Given the description of an element on the screen output the (x, y) to click on. 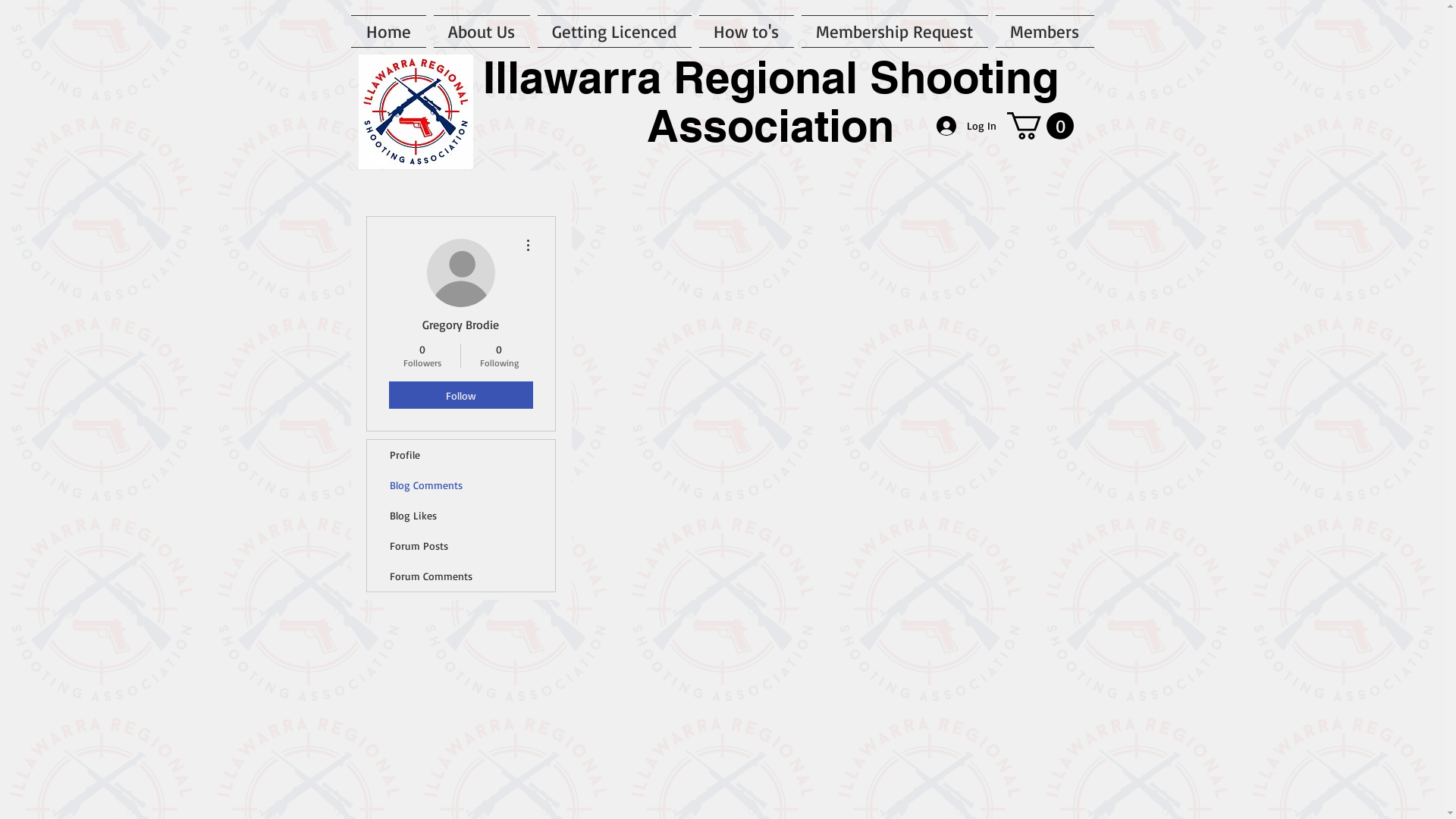
0
Following Element type: text (499, 355)
Membership Request Element type: text (894, 31)
Getting Licenced Element type: text (614, 31)
Blog Likes Element type: text (461, 515)
Log In Element type: text (965, 125)
Follow Element type: text (460, 394)
Profile Element type: text (461, 454)
Home Element type: text (389, 31)
How to's Element type: text (745, 31)
Blog Comments Element type: text (461, 485)
Forum Comments Element type: text (461, 576)
0
Followers Element type: text (421, 355)
About Us Element type: text (481, 31)
Members Element type: text (1042, 31)
Forum Posts Element type: text (461, 545)
0 Element type: text (1040, 125)
